Given the description of an element on the screen output the (x, y) to click on. 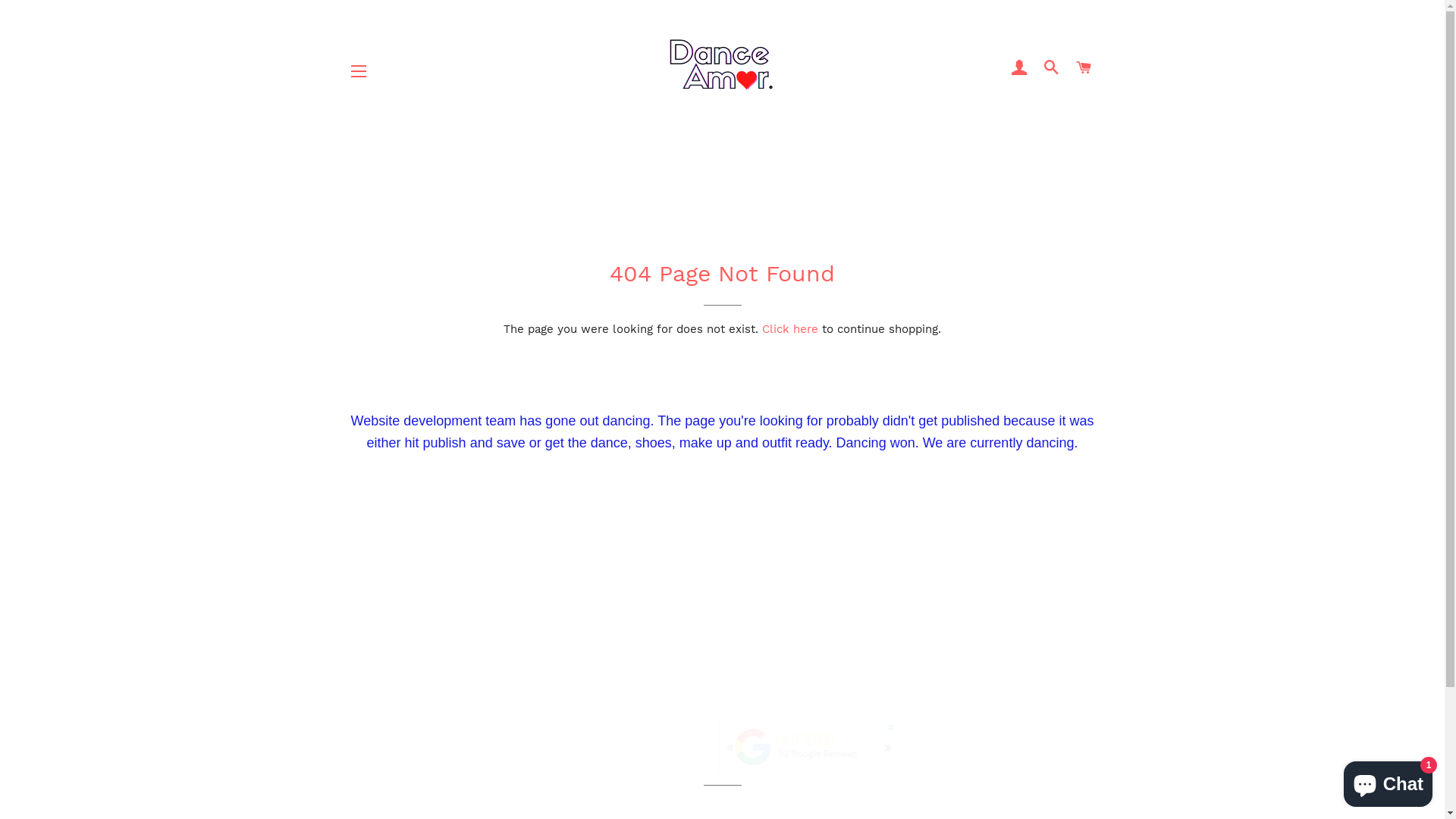
CART Element type: text (1083, 67)
LOG IN Element type: text (1019, 67)
Shopify online store chat Element type: hover (1388, 780)
SITE NAVIGATION Element type: text (358, 71)
Click here Element type: text (790, 328)
SEARCH Element type: text (1052, 67)
